Given the description of an element on the screen output the (x, y) to click on. 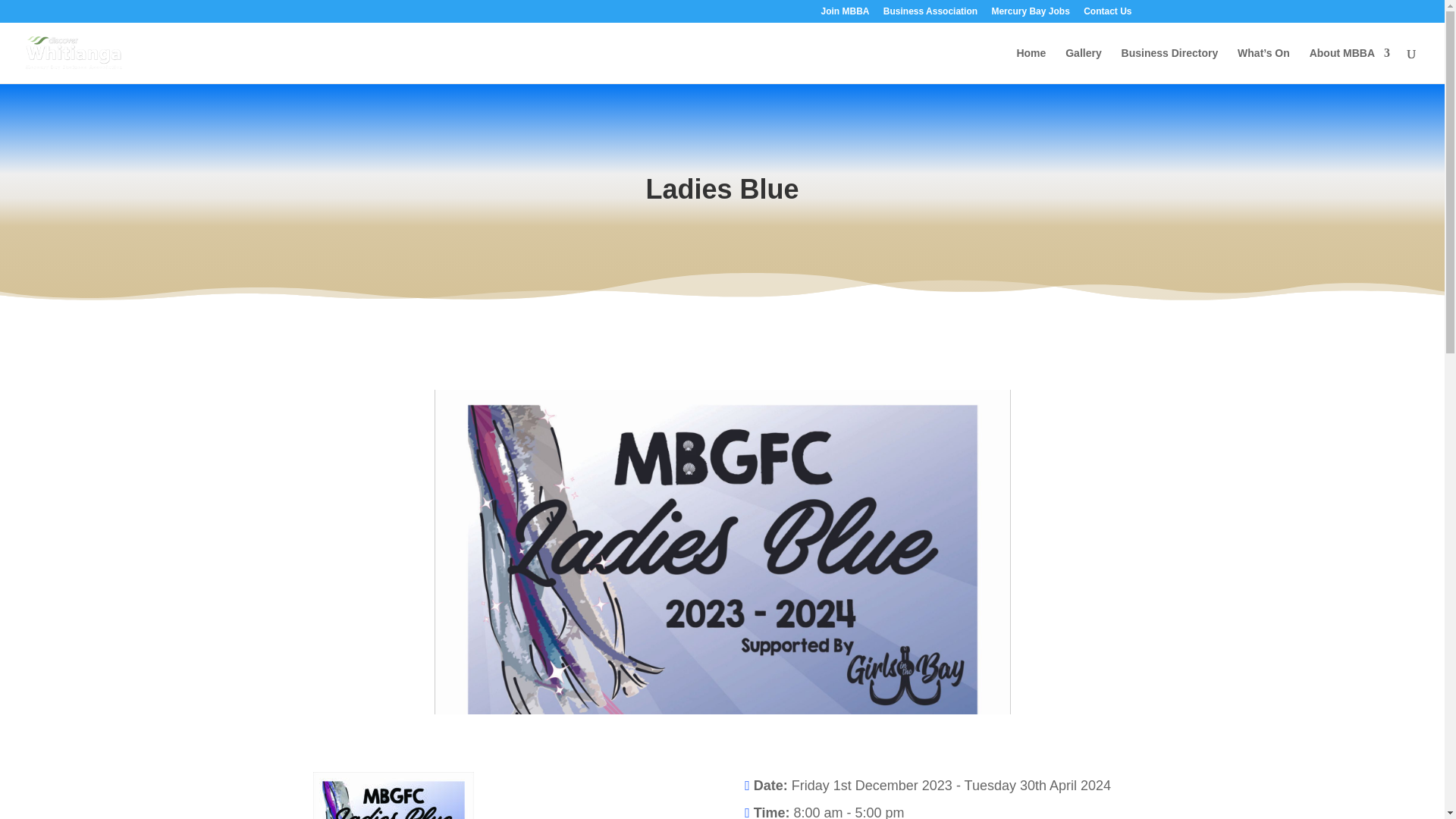
Business Directory (1169, 65)
Business Association (929, 14)
About MBBA (1349, 65)
Join MBBA (845, 14)
Mercury Bay Jobs (1029, 14)
Contact Us (1107, 14)
Gallery (1082, 65)
